Given the description of an element on the screen output the (x, y) to click on. 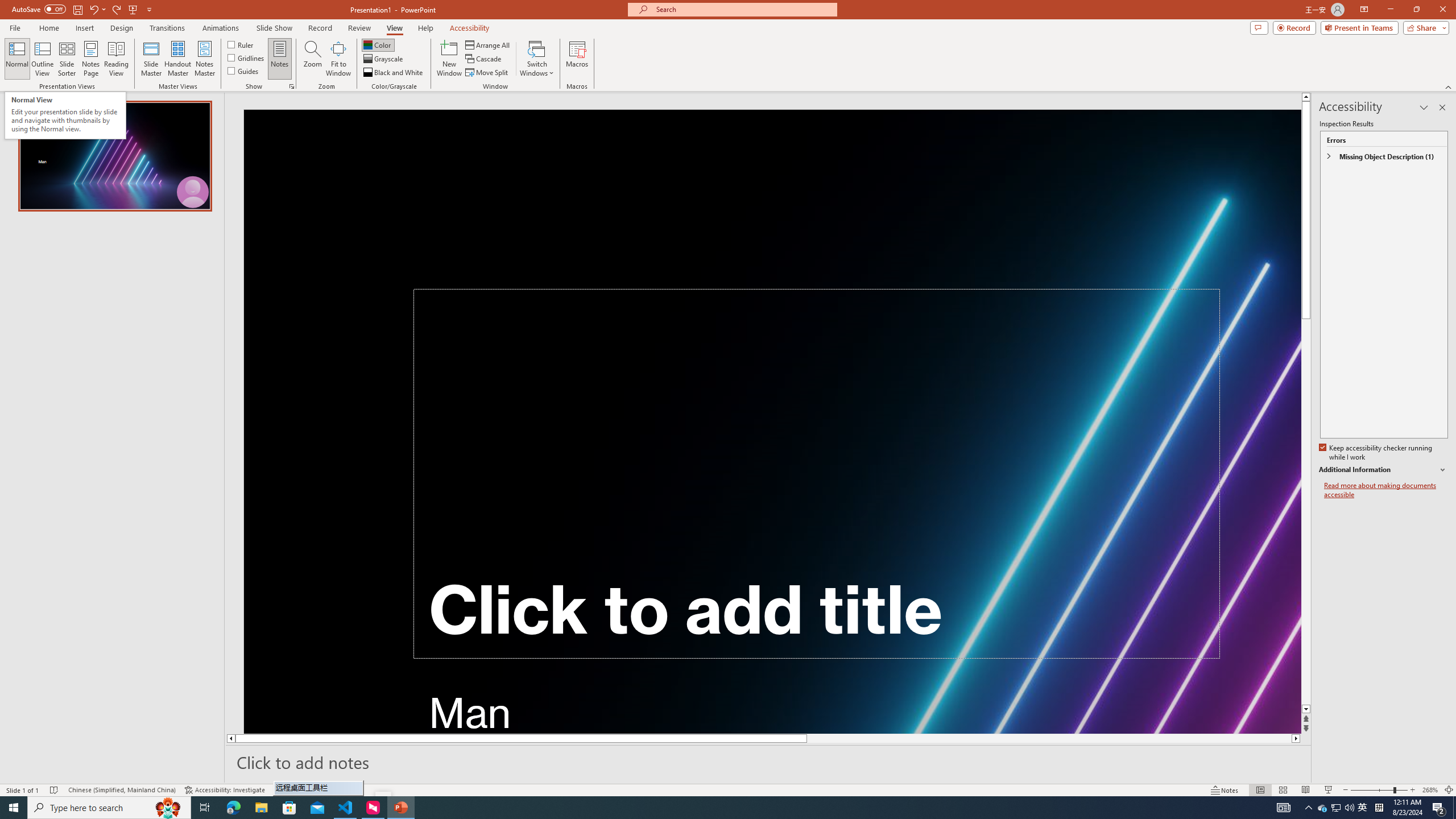
Zoom... (312, 58)
Color (377, 44)
Notes Master (204, 58)
